Given the description of an element on the screen output the (x, y) to click on. 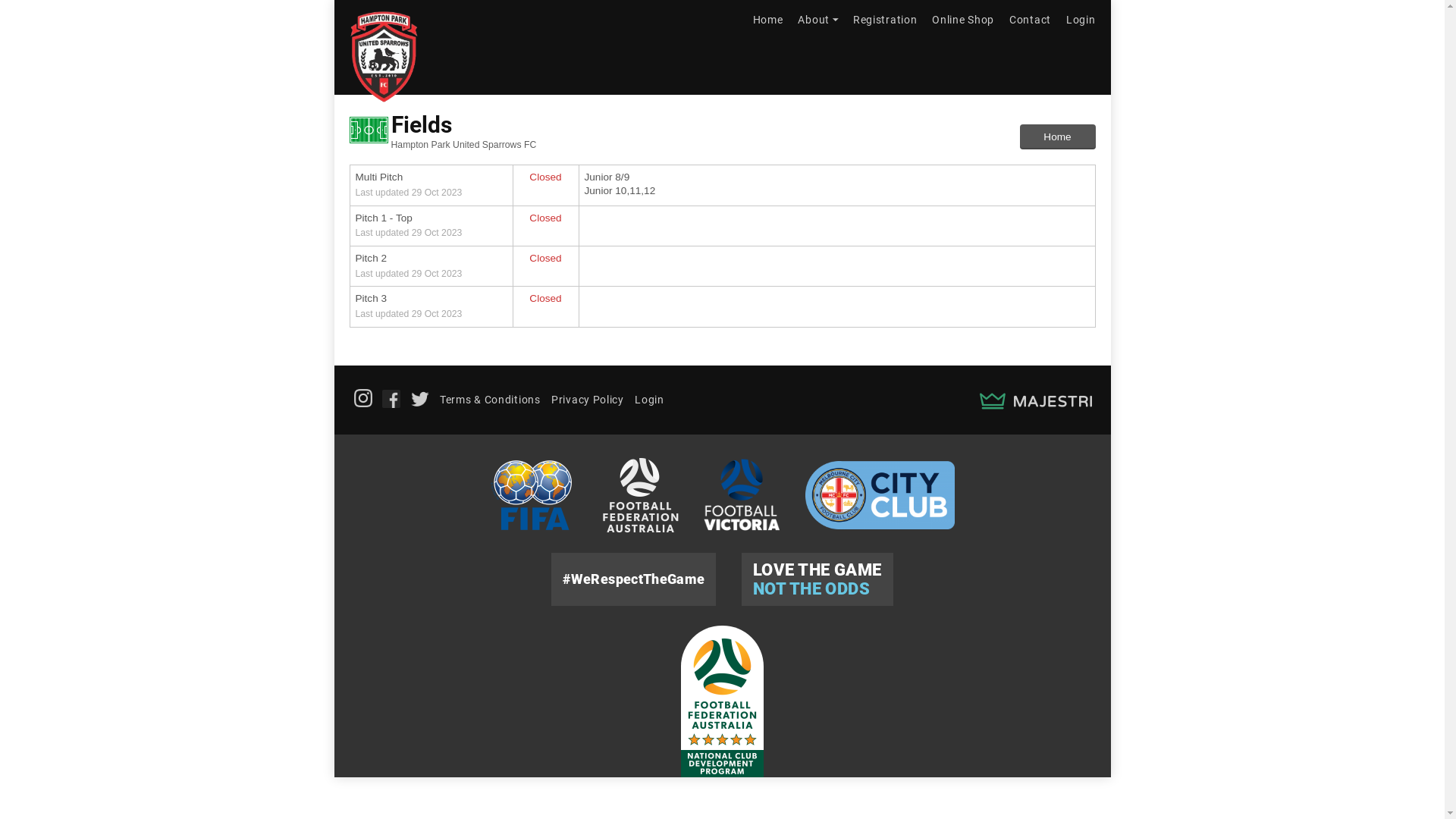
Instagram Element type: text (362, 398)
#WeRespectTheGame Element type: text (633, 579)
Home Element type: text (767, 19)
Online Shop Element type: text (962, 19)
Login Element type: text (1080, 19)
Terms & Conditions Element type: text (489, 399)
LOVE THE GAME
NOT THE ODDS Element type: text (817, 579)
Home Element type: text (1057, 137)
Twitter Element type: text (420, 398)
Facebook Element type: text (391, 398)
Login Element type: text (649, 399)
Privacy Policy Element type: text (587, 399)
Contact Element type: text (1029, 19)
Registration Element type: text (884, 19)
About Element type: text (817, 19)
